Given the description of an element on the screen output the (x, y) to click on. 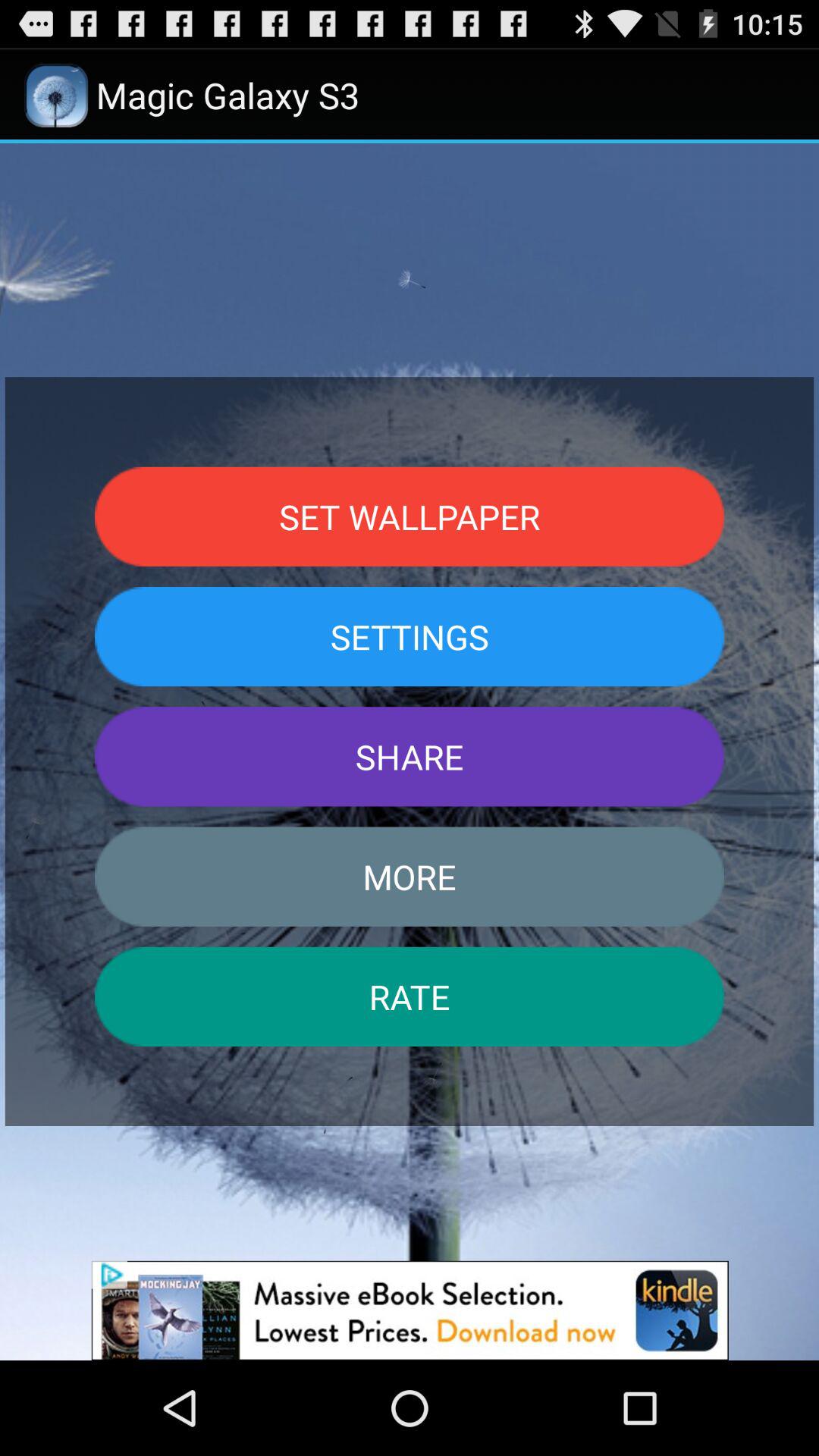
advertisement bar (409, 1310)
